Given the description of an element on the screen output the (x, y) to click on. 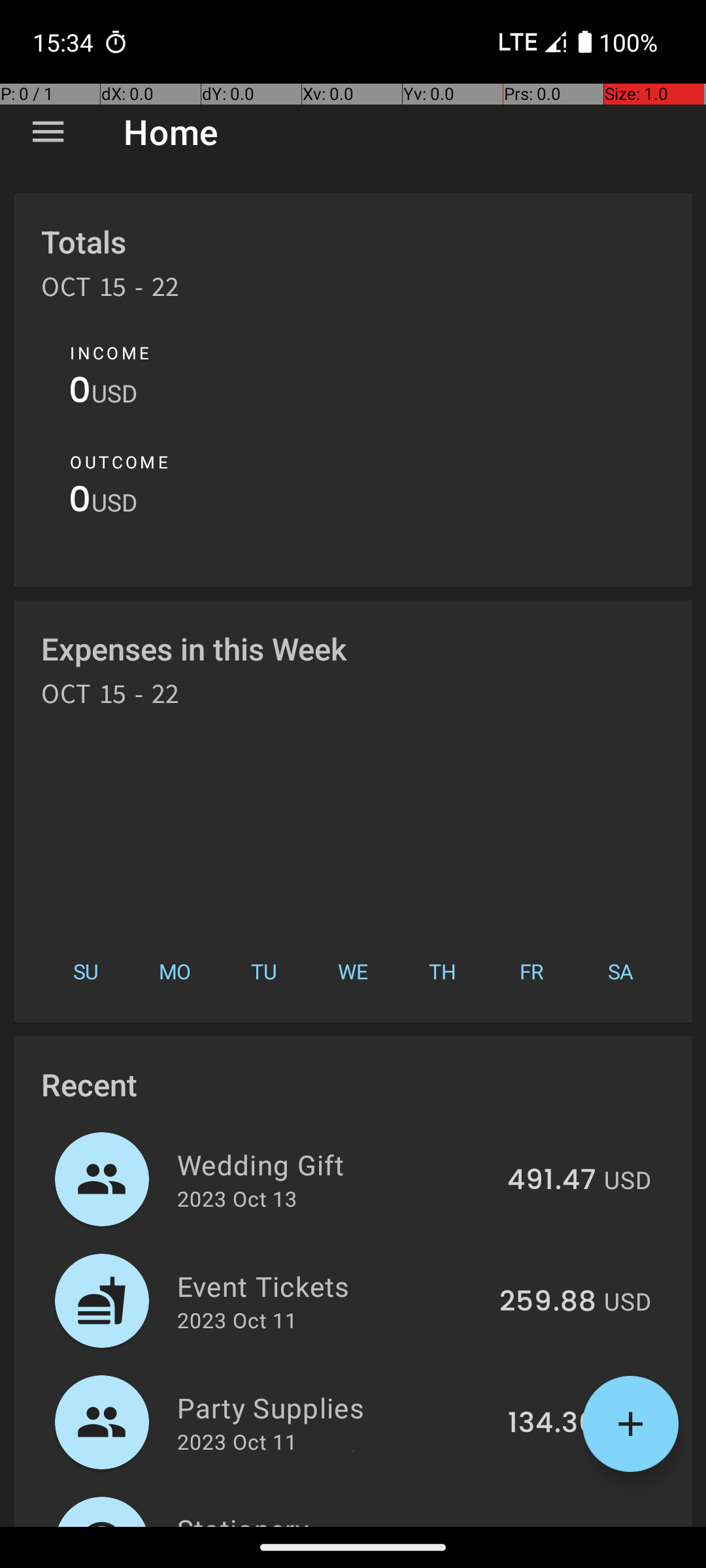
Wedding Gift Element type: android.widget.TextView (334, 1164)
491.47 Element type: android.widget.TextView (551, 1180)
259.88 Element type: android.widget.TextView (547, 1301)
134.36 Element type: android.widget.TextView (551, 1423)
Stationery Element type: android.widget.TextView (335, 1518)
339.17 Element type: android.widget.TextView (552, 1524)
